Given the description of an element on the screen output the (x, y) to click on. 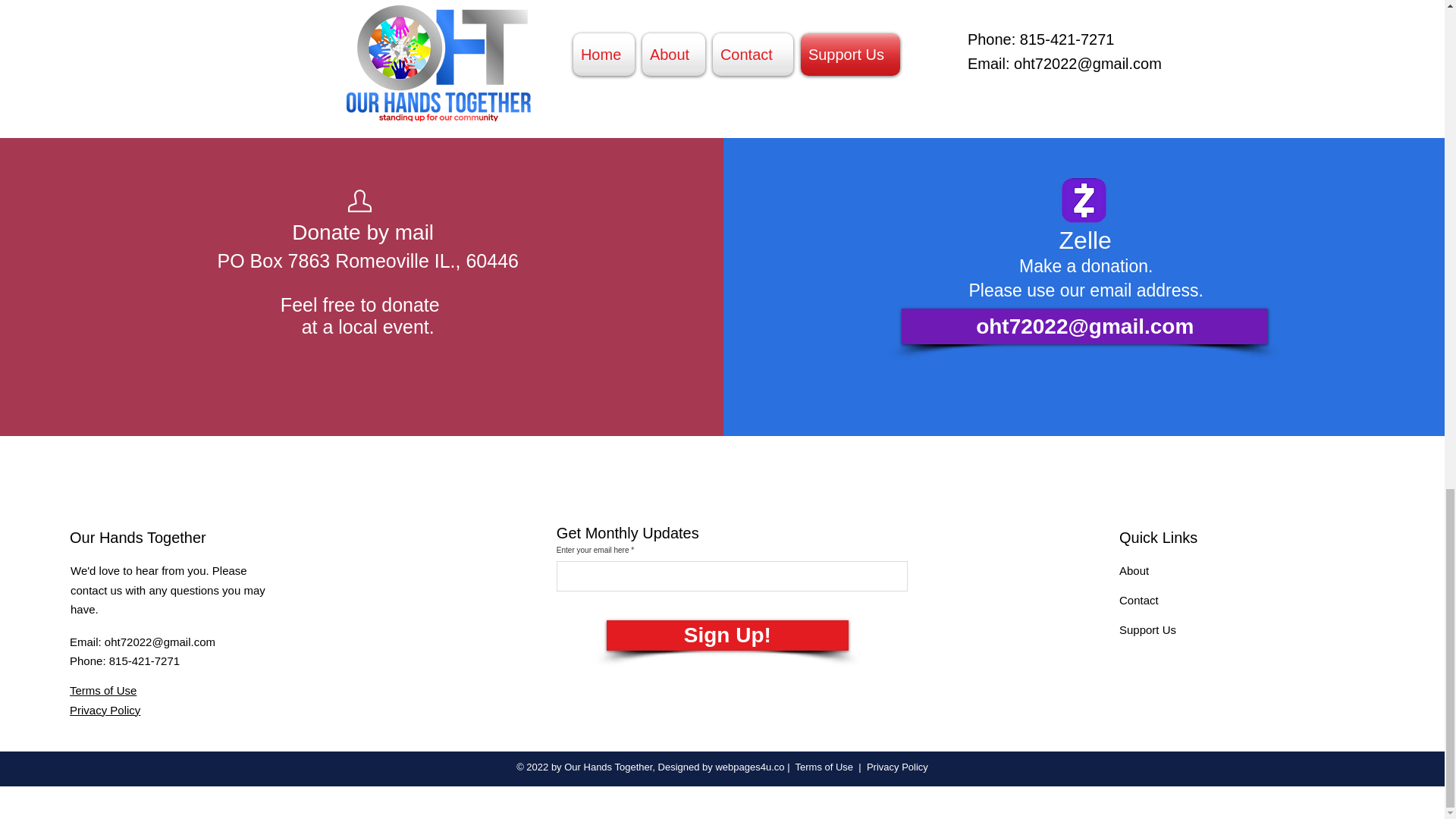
Support Us (1147, 629)
Terms of Use (102, 689)
Terms of Use (823, 767)
Contact (1138, 599)
About (1133, 570)
Sign Up! (727, 634)
Privacy Policy (104, 708)
Privacy Policy (897, 767)
